Given the description of an element on the screen output the (x, y) to click on. 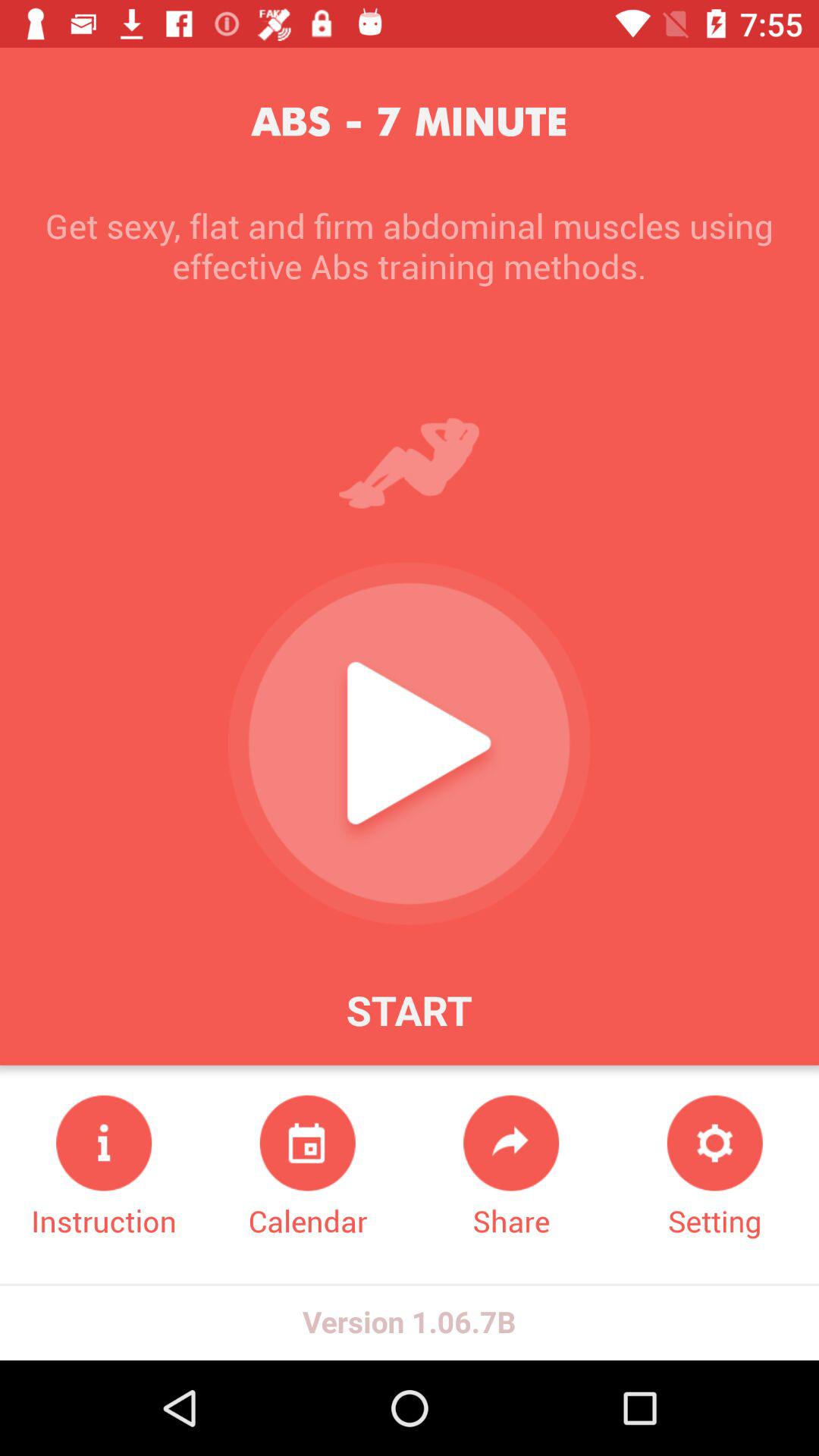
choose icon to the right of share item (714, 1168)
